Given the description of an element on the screen output the (x, y) to click on. 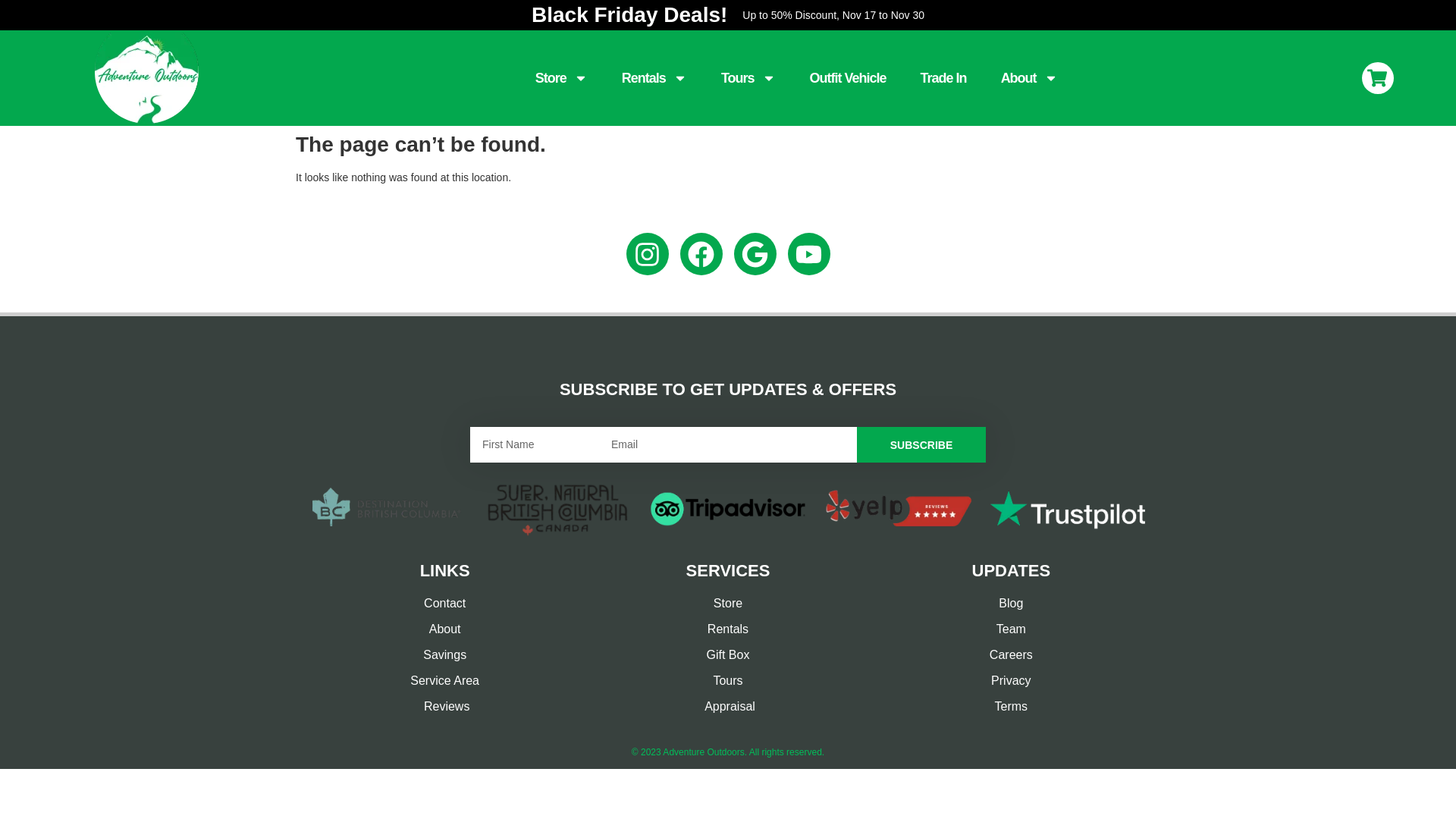
Blog Element type: text (1011, 603)
Tours Element type: text (727, 680)
Service Area Element type: text (444, 680)
Outfit Vehicle Element type: text (847, 77)
Reviews Element type: text (444, 706)
Savings Element type: text (444, 655)
Store Element type: text (727, 603)
Rentals Element type: text (654, 77)
Contact Element type: text (444, 603)
Rentals Element type: text (727, 629)
SUBSCRIBE Element type: text (920, 444)
Terms Element type: text (1011, 706)
Appraisal Element type: text (727, 706)
About Element type: text (1029, 77)
Careers Element type: text (1011, 655)
Trade In Element type: text (943, 77)
Store Element type: text (561, 77)
Tours Element type: text (748, 77)
Gift Box Element type: text (727, 655)
About Element type: text (444, 629)
Privacy Element type: text (1011, 680)
Team Element type: text (1011, 629)
